Given the description of an element on the screen output the (x, y) to click on. 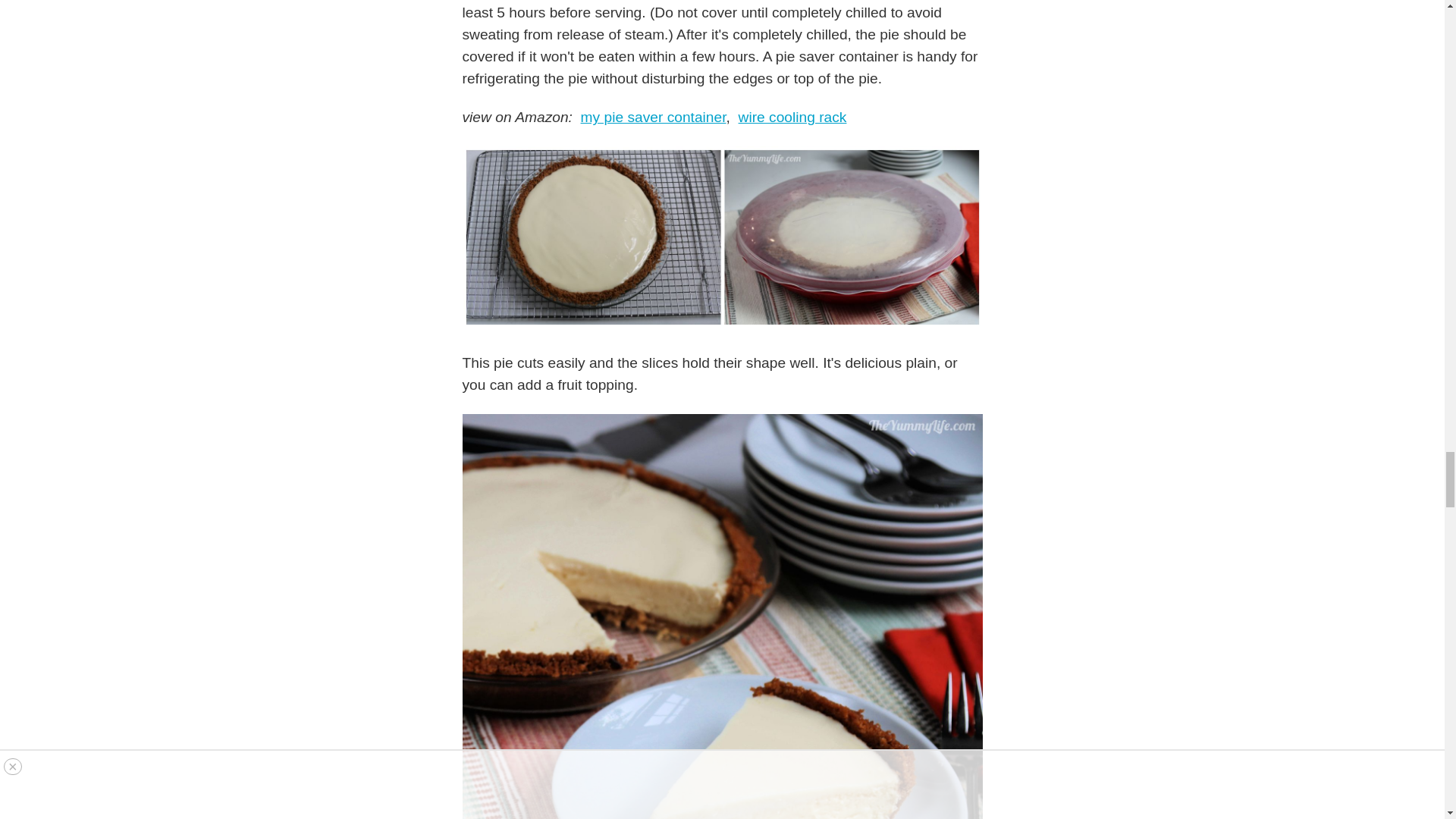
my pie saver container (653, 116)
wire cooling rack (792, 116)
